Given the description of an element on the screen output the (x, y) to click on. 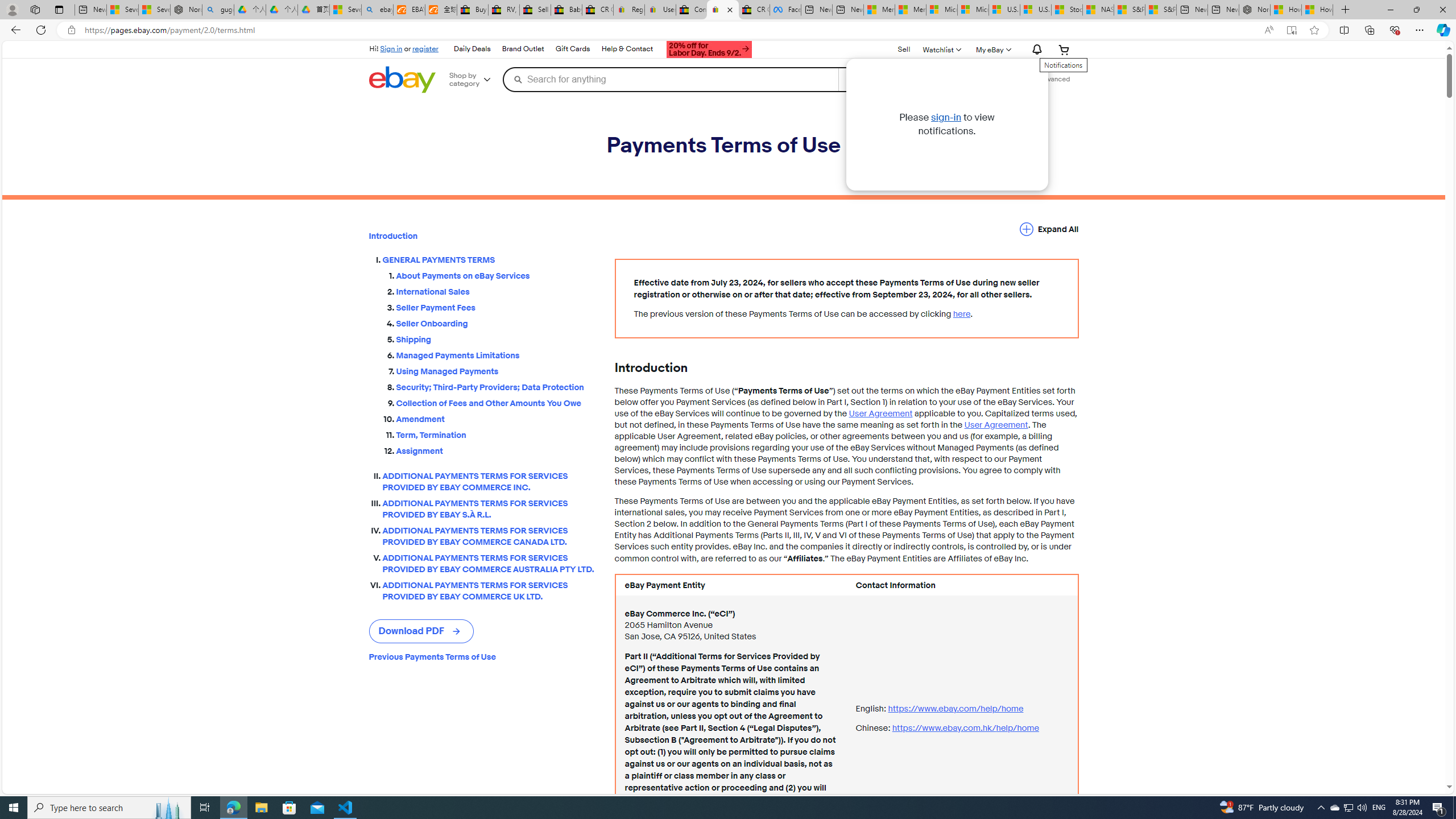
Managed Payments Limitations (496, 353)
User Agreement (995, 424)
Shop by category (473, 79)
Introduction (482, 236)
App bar (728, 29)
Enter Immersive Reader (F9) (1291, 29)
register (425, 48)
Sell worldwide with eBay (535, 9)
Shipping (496, 337)
My eBayExpand My eBay (992, 49)
Using Managed Payments (496, 369)
Amendment (496, 419)
